Given the description of an element on the screen output the (x, y) to click on. 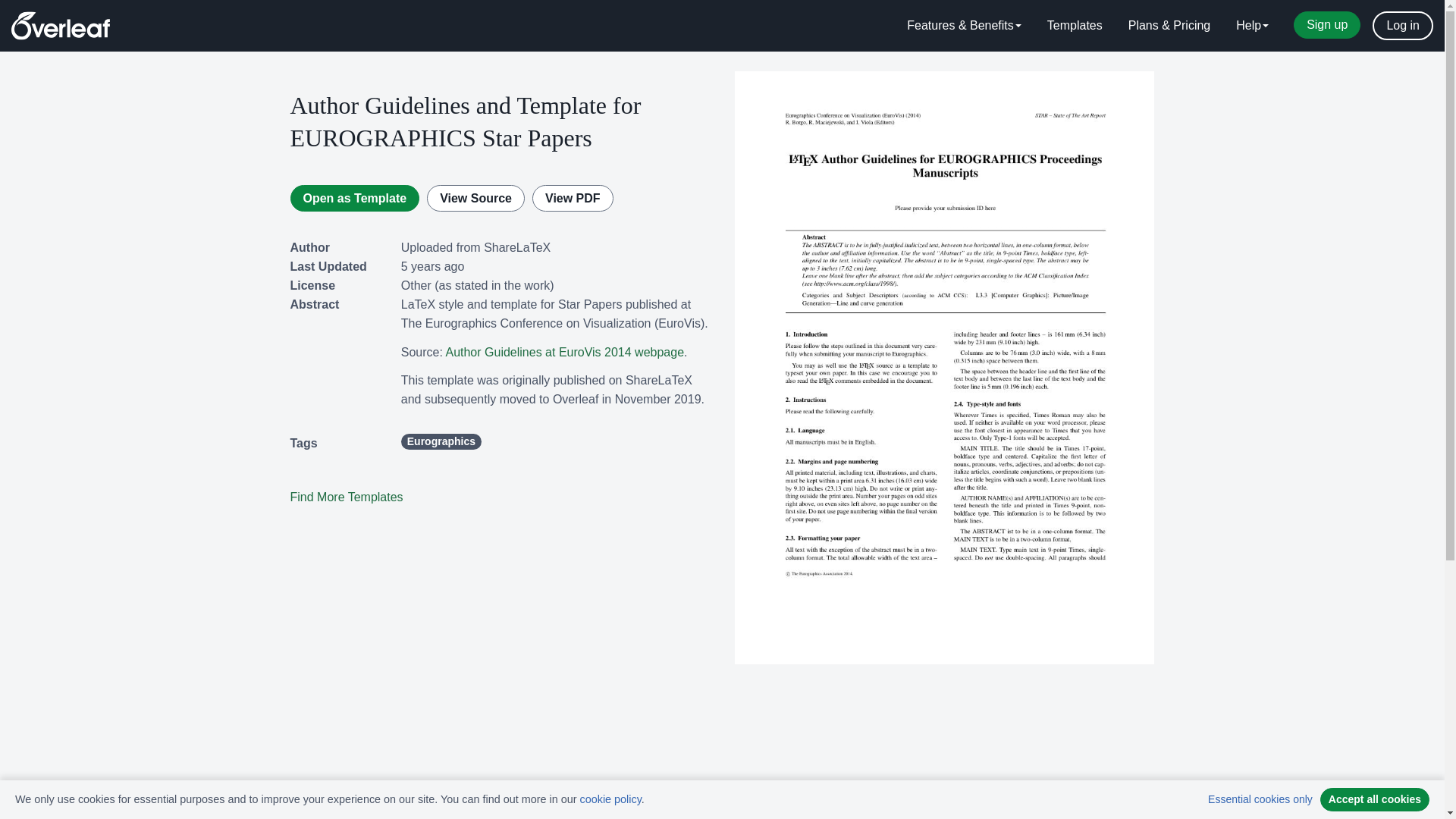
View PDF (572, 198)
Open as Template (354, 198)
View Source (475, 198)
Templates (1074, 25)
Help (1252, 25)
Eurographics (441, 441)
Author Guidelines at EuroVis 2014 webpage (564, 351)
Log in (1402, 25)
Sign up (1326, 24)
Find More Templates (346, 496)
